Given the description of an element on the screen output the (x, y) to click on. 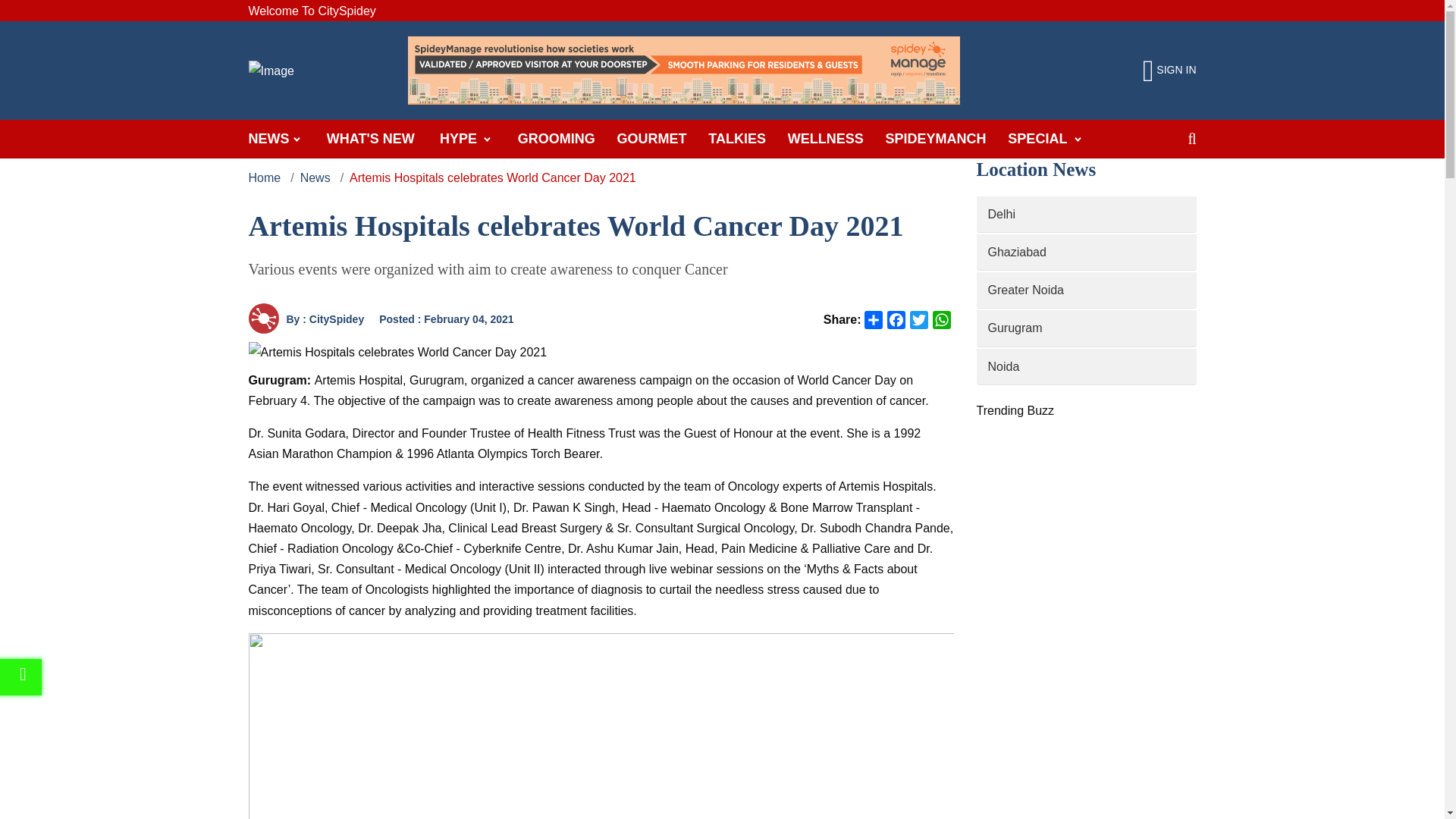
SIGN IN (1169, 70)
Artemis Hospitals celebrates World Cancer Day 2021 (397, 352)
Login (1169, 70)
CitySpidey (263, 318)
